Given the description of an element on the screen output the (x, y) to click on. 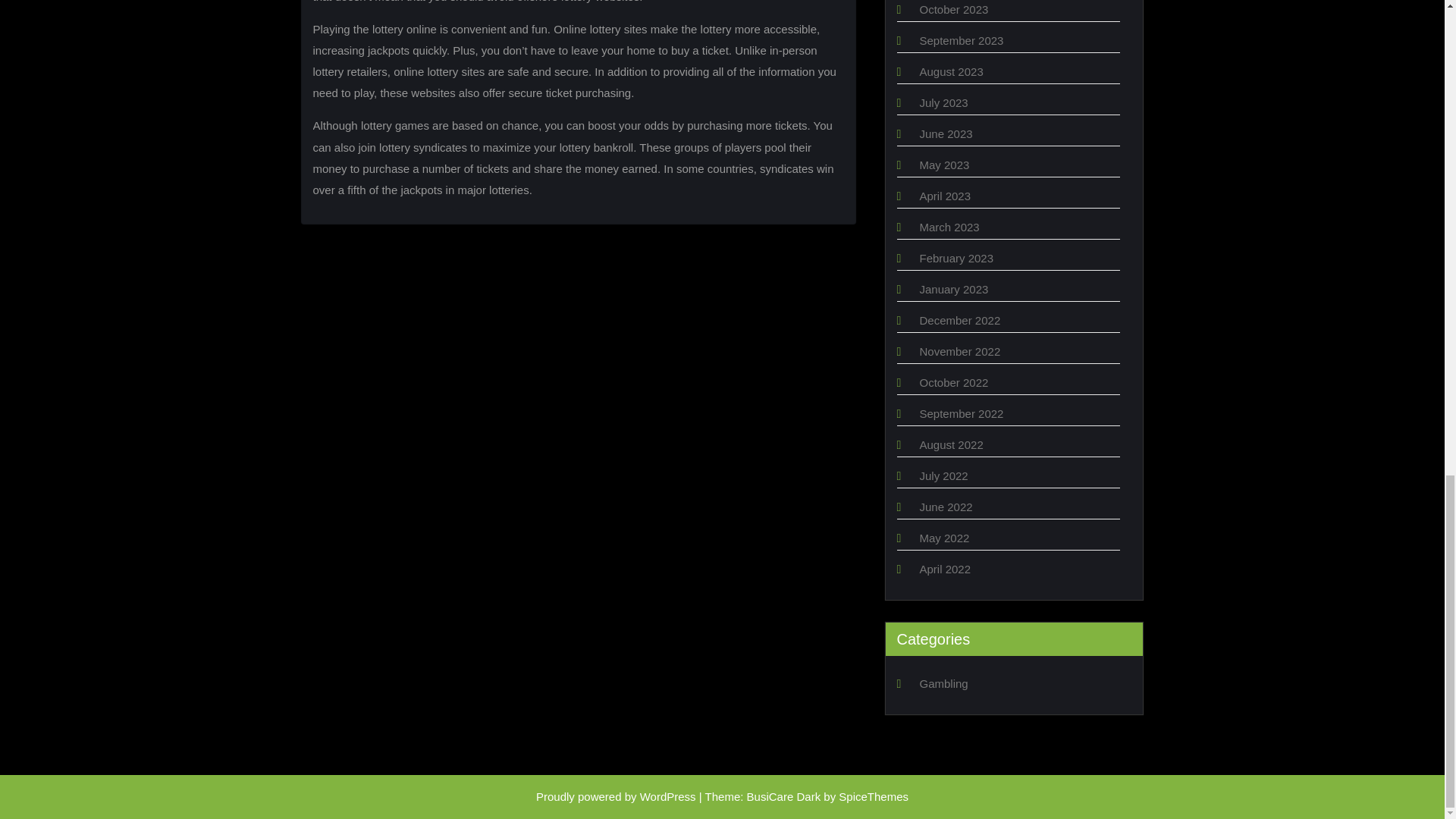
January 2023 (953, 288)
September 2023 (960, 40)
September 2022 (960, 413)
July 2022 (943, 475)
August 2022 (950, 444)
April 2023 (944, 195)
March 2023 (948, 226)
November 2022 (959, 350)
February 2023 (955, 257)
May 2023 (943, 164)
